Given the description of an element on the screen output the (x, y) to click on. 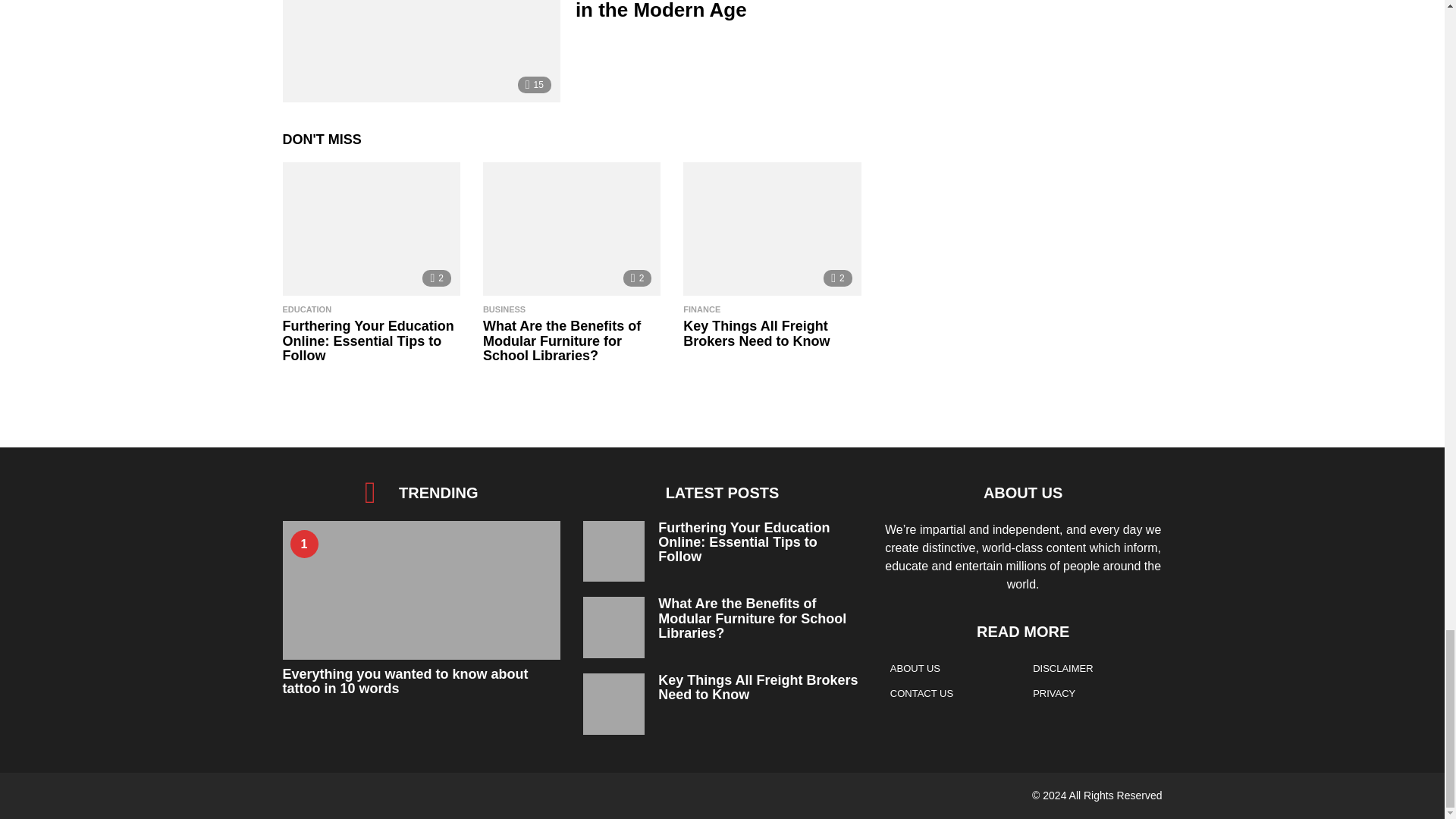
Furthering Your Education Online: Essential Tips to Follow (371, 228)
Mastering DigitalNewsAlerts in the Modern Age (420, 51)
